Given the description of an element on the screen output the (x, y) to click on. 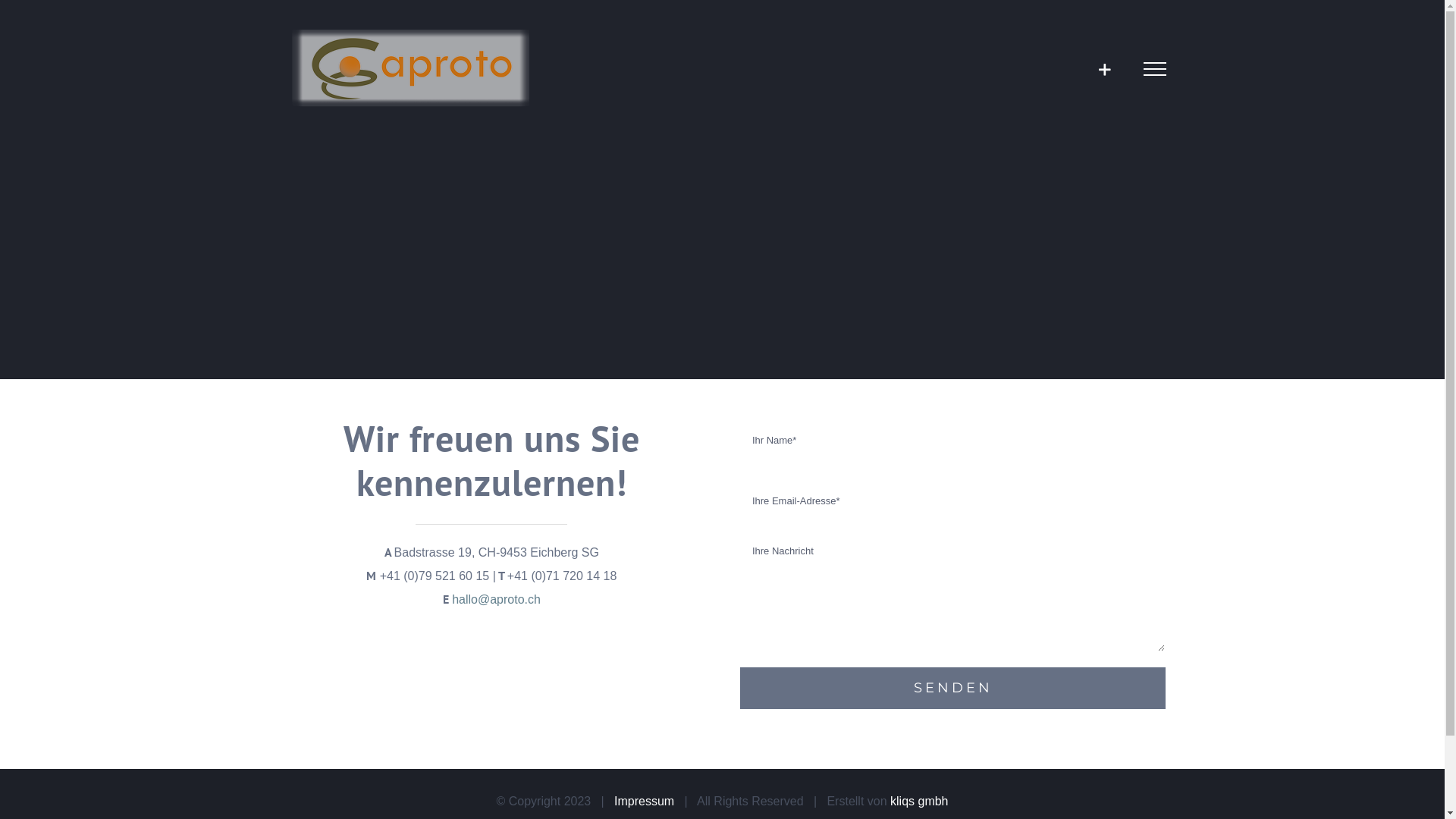
Senden Element type: text (953, 688)
Impressum Element type: text (644, 800)
kliqs gmbh Element type: text (918, 800)
hallo@aproto.ch Element type: text (495, 599)
